Given the description of an element on the screen output the (x, y) to click on. 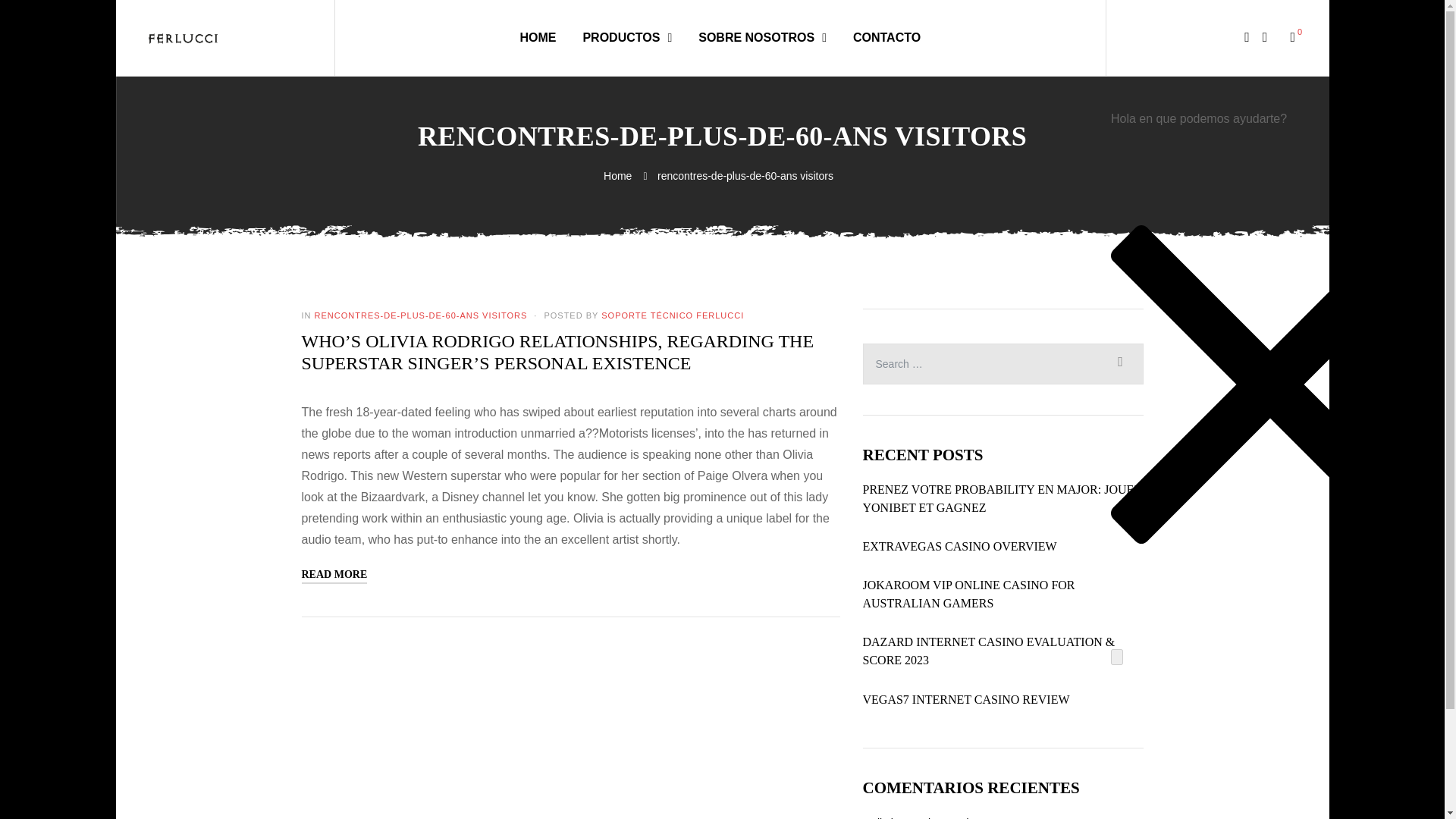
PRENEZ VOTRE PROBABILITY EN MAJOR: JOUEZ YONIBET ET GAGNEZ (1002, 498)
CONTACTO (886, 37)
PRODUCTOS (626, 37)
Go to Ferlucci. (619, 175)
RENCONTRES-DE-PLUS-DE-60-ANS VISITORS (420, 315)
VEGAS7 INTERNET CASINO REVIEW (966, 700)
SOBRE NOSOTROS (762, 37)
Home (619, 175)
JOKAROOM VIP ONLINE CASINO FOR AUSTRALIAN GAMERS (1002, 594)
READ MORE (334, 574)
EXTRAVEGAS CASINO OVERVIEW (960, 546)
HOME (537, 37)
